Given the description of an element on the screen output the (x, y) to click on. 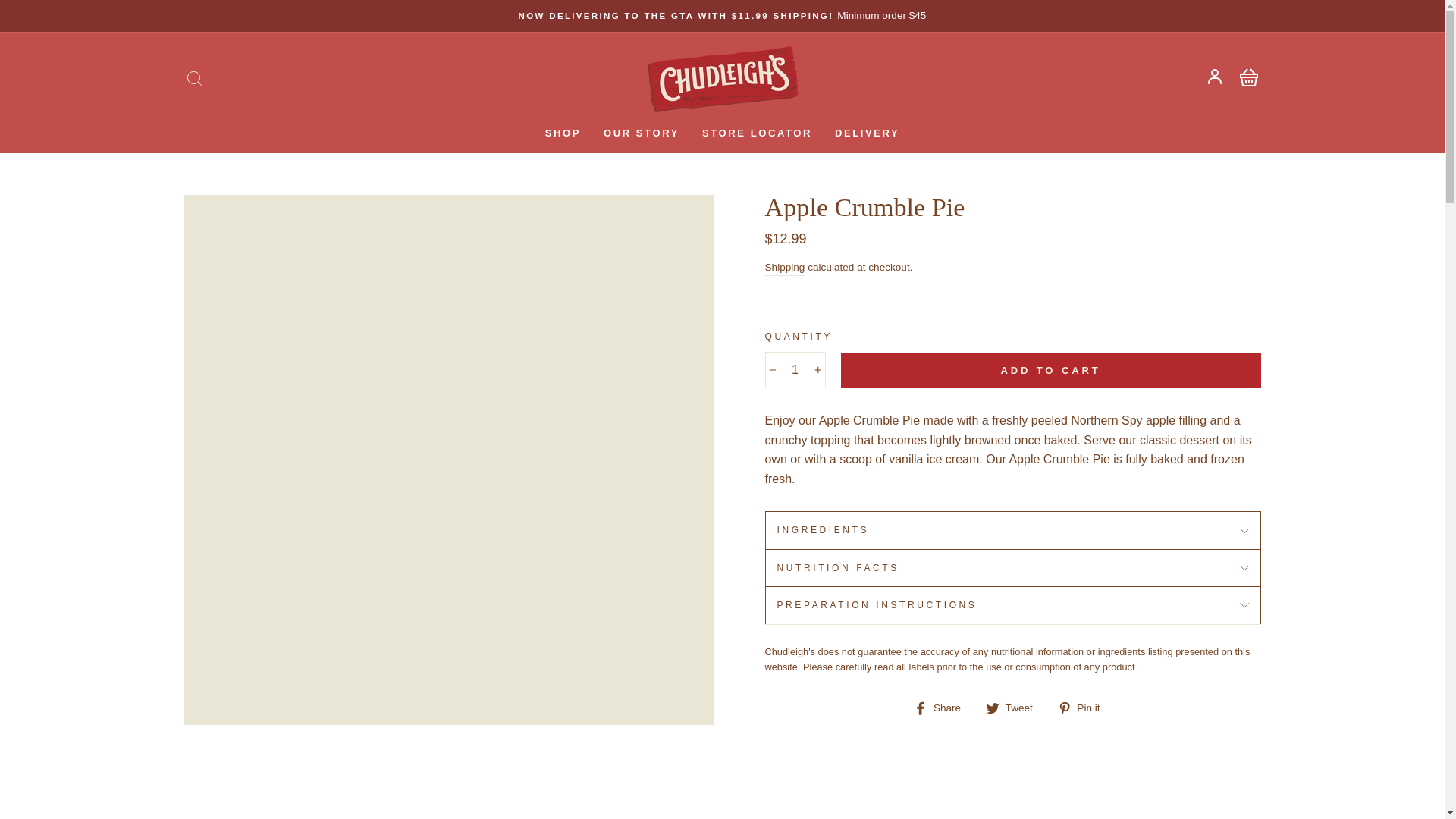
Pin on Pinterest (1085, 708)
Share on Facebook (943, 708)
LOG IN (1214, 79)
SEARCH (194, 79)
1 (794, 370)
Tweet on Twitter (1014, 708)
